Given the description of an element on the screen output the (x, y) to click on. 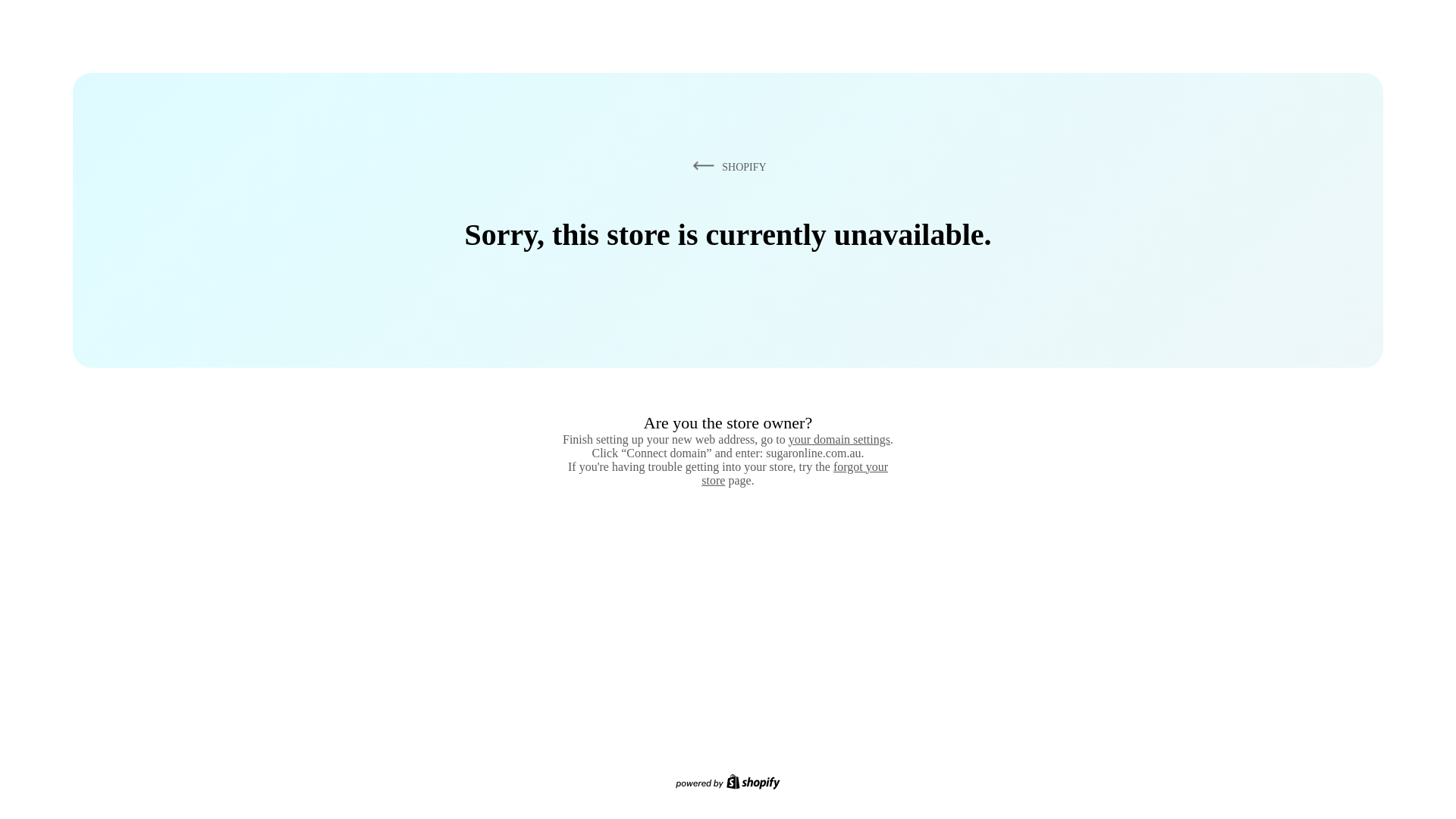
SHOPIFY (726, 166)
your domain settings (839, 439)
forgot your store (794, 473)
